Given the description of an element on the screen output the (x, y) to click on. 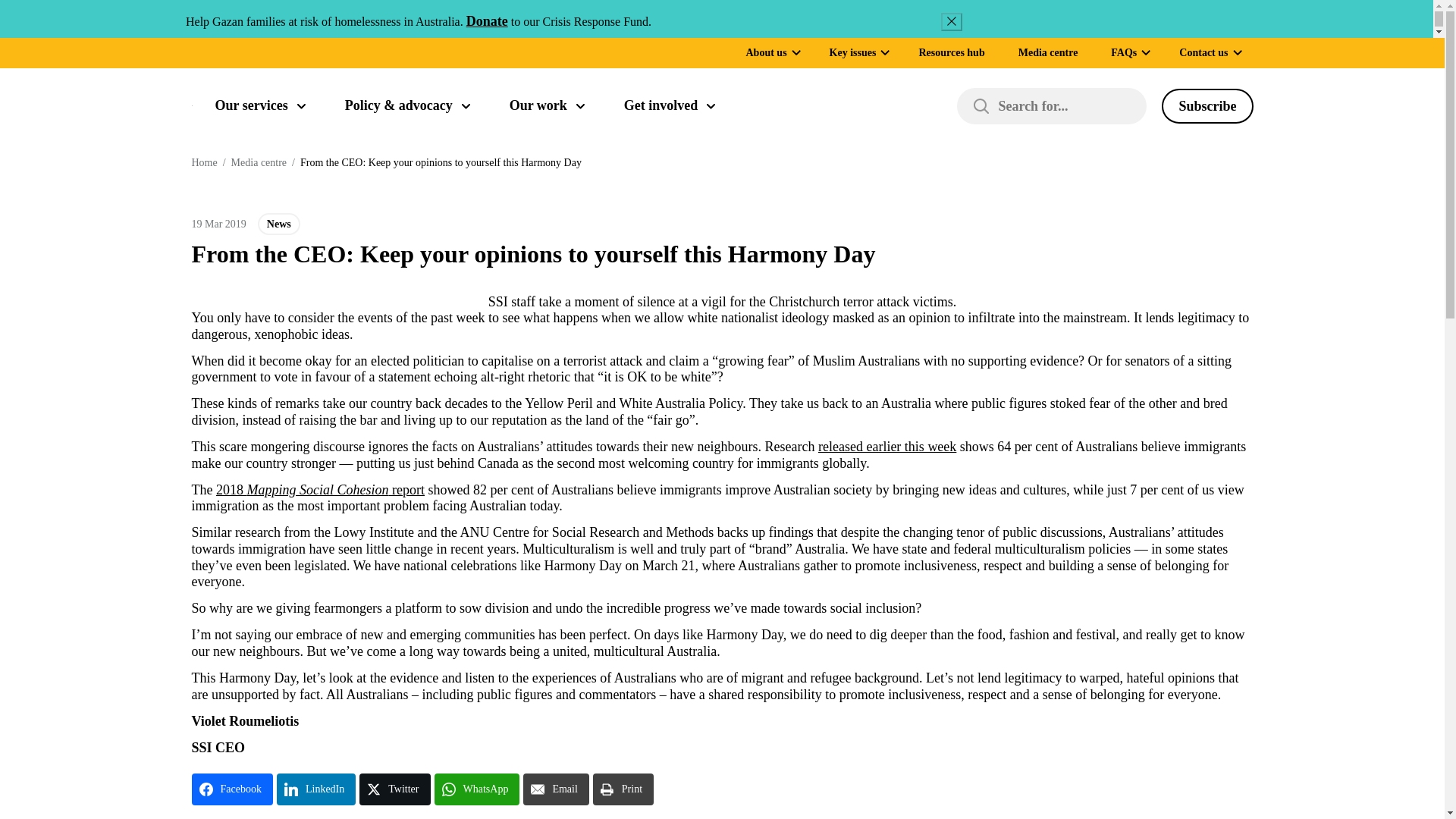
Pew Global research (887, 446)
Contact us (1203, 52)
Our services (260, 105)
FAQs (1123, 52)
Media centre (1047, 52)
Mapping Social cohesion (320, 489)
Key issues (852, 52)
Share on WhatsApp (476, 789)
Share on LinkedIn (315, 789)
Resources hub (951, 52)
